Given the description of an element on the screen output the (x, y) to click on. 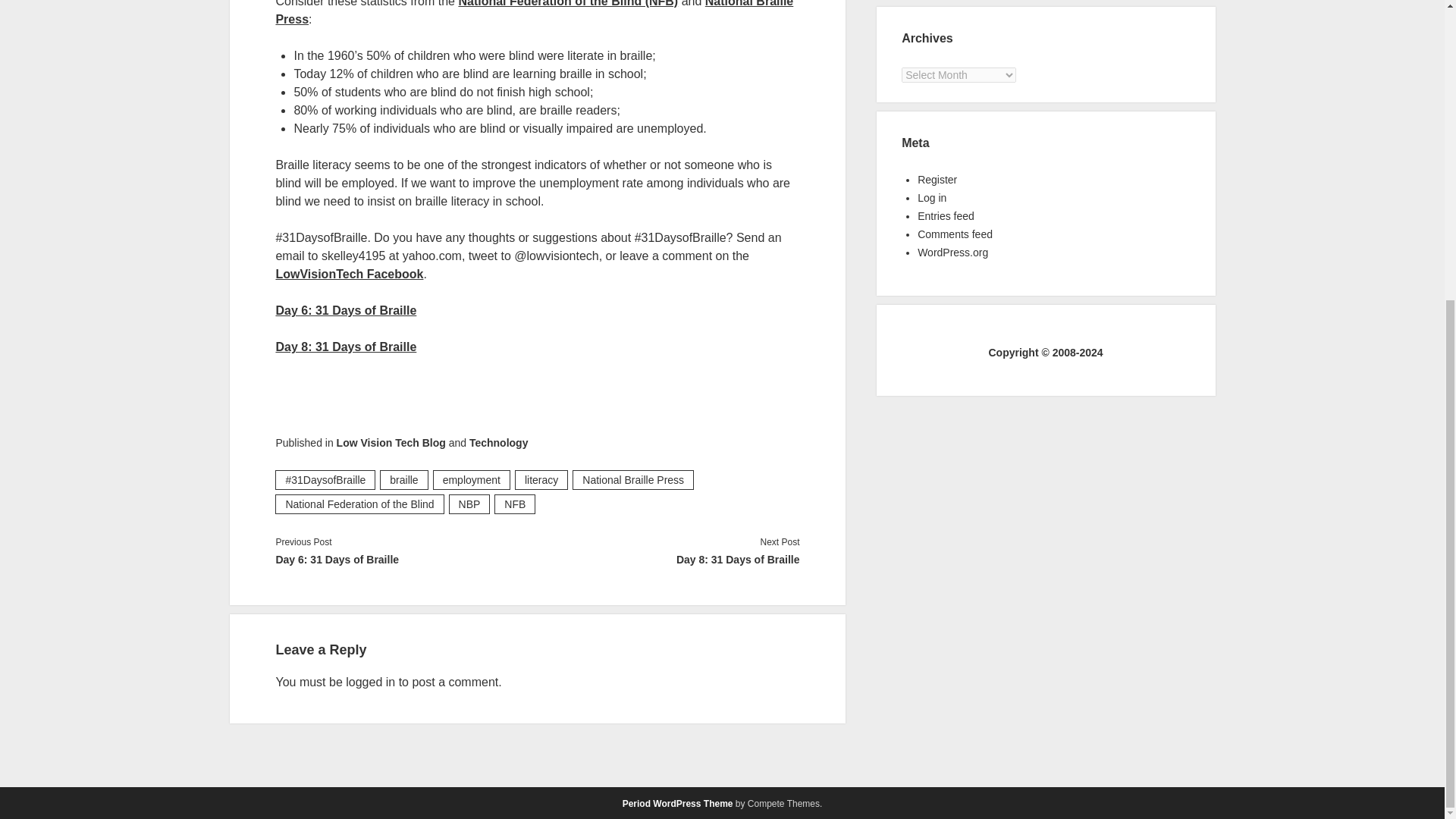
National Braille Press (633, 479)
View all posts in Low Vision Tech Blog (390, 442)
View all posts tagged braille (404, 479)
literacy (541, 479)
Day 8: 31 Days of Braille (345, 346)
Day 6: 31 Days of Braille (345, 309)
National Braille Press (534, 12)
View all posts tagged employment (471, 479)
NBP (469, 504)
National Federation of the Blind (359, 504)
View all posts tagged literacy (541, 479)
LowVisionTech Facebook (349, 273)
Day 6: 31 Days of Braille (406, 559)
View all posts in Technology (498, 442)
Technology (498, 442)
